Given the description of an element on the screen output the (x, y) to click on. 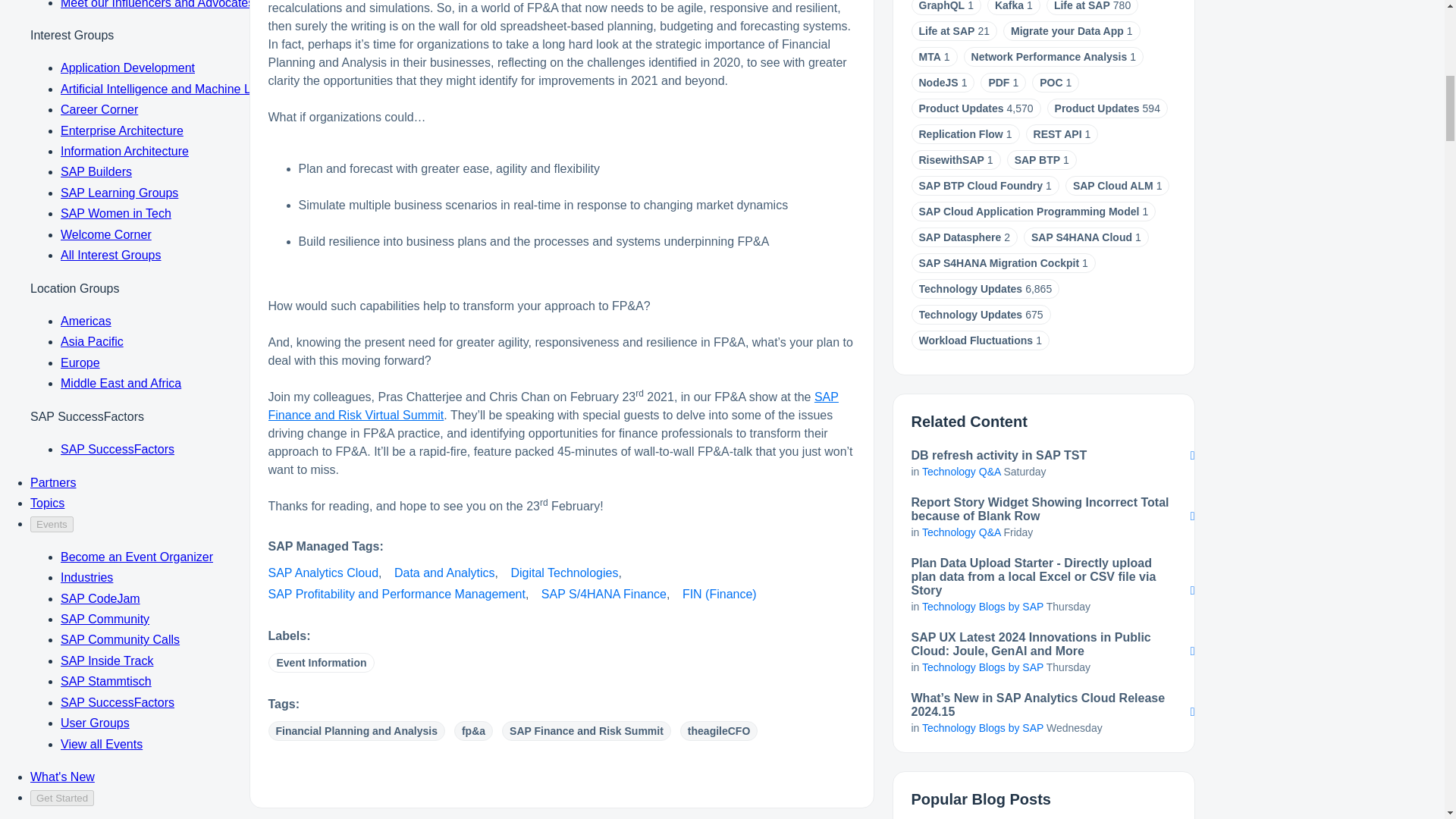
Digital Technologies (564, 572)
Financial Planning and Analysis (356, 731)
SAP Analytics Cloud (322, 572)
Data and Analytics (444, 572)
SAP Profitability and Performance Management (396, 594)
Event Information (320, 662)
SAP Finance and Risk Virtual Summit (552, 405)
